Given the description of an element on the screen output the (x, y) to click on. 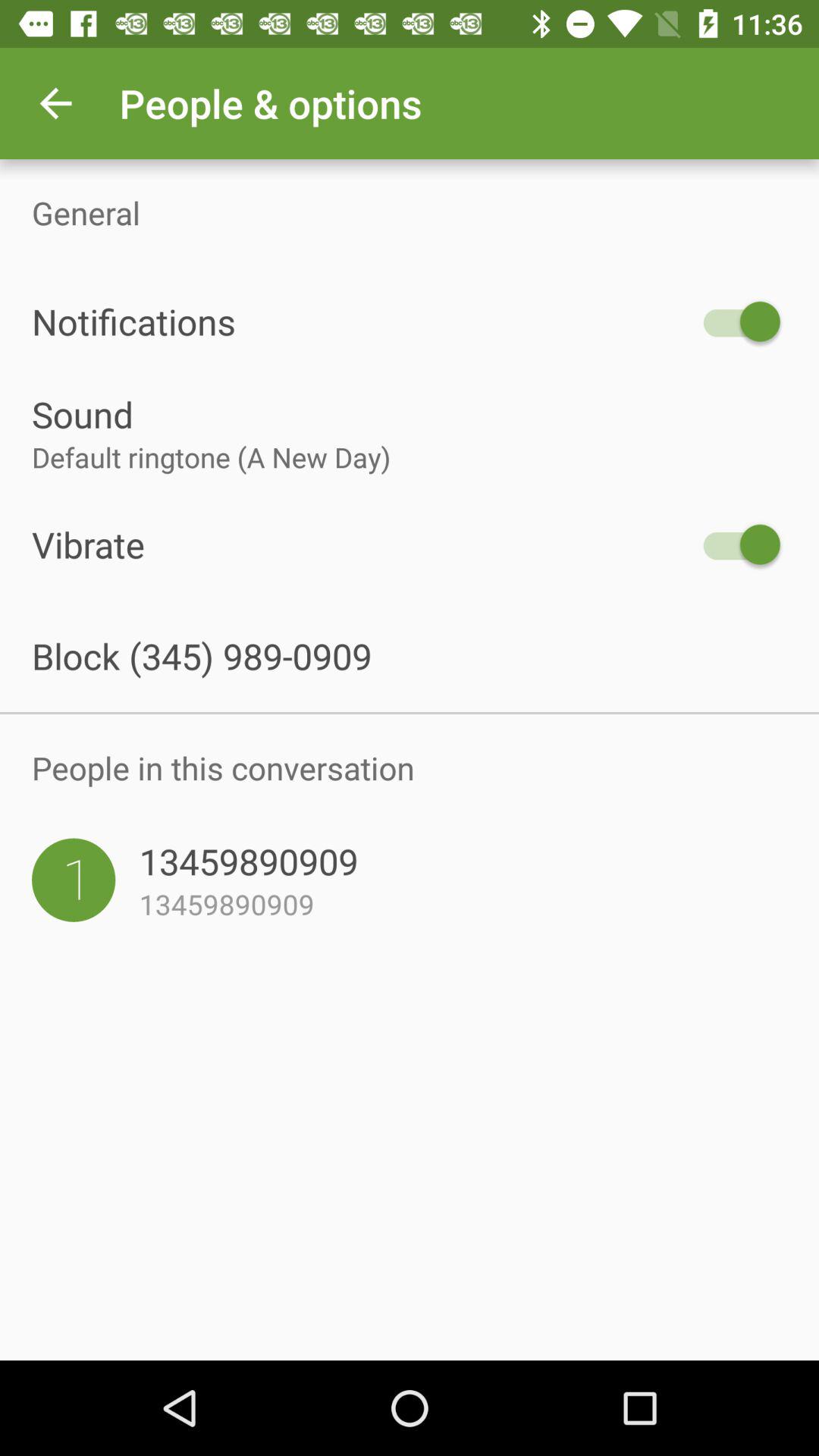
choose the icon next to the people & options (55, 103)
